Given the description of an element on the screen output the (x, y) to click on. 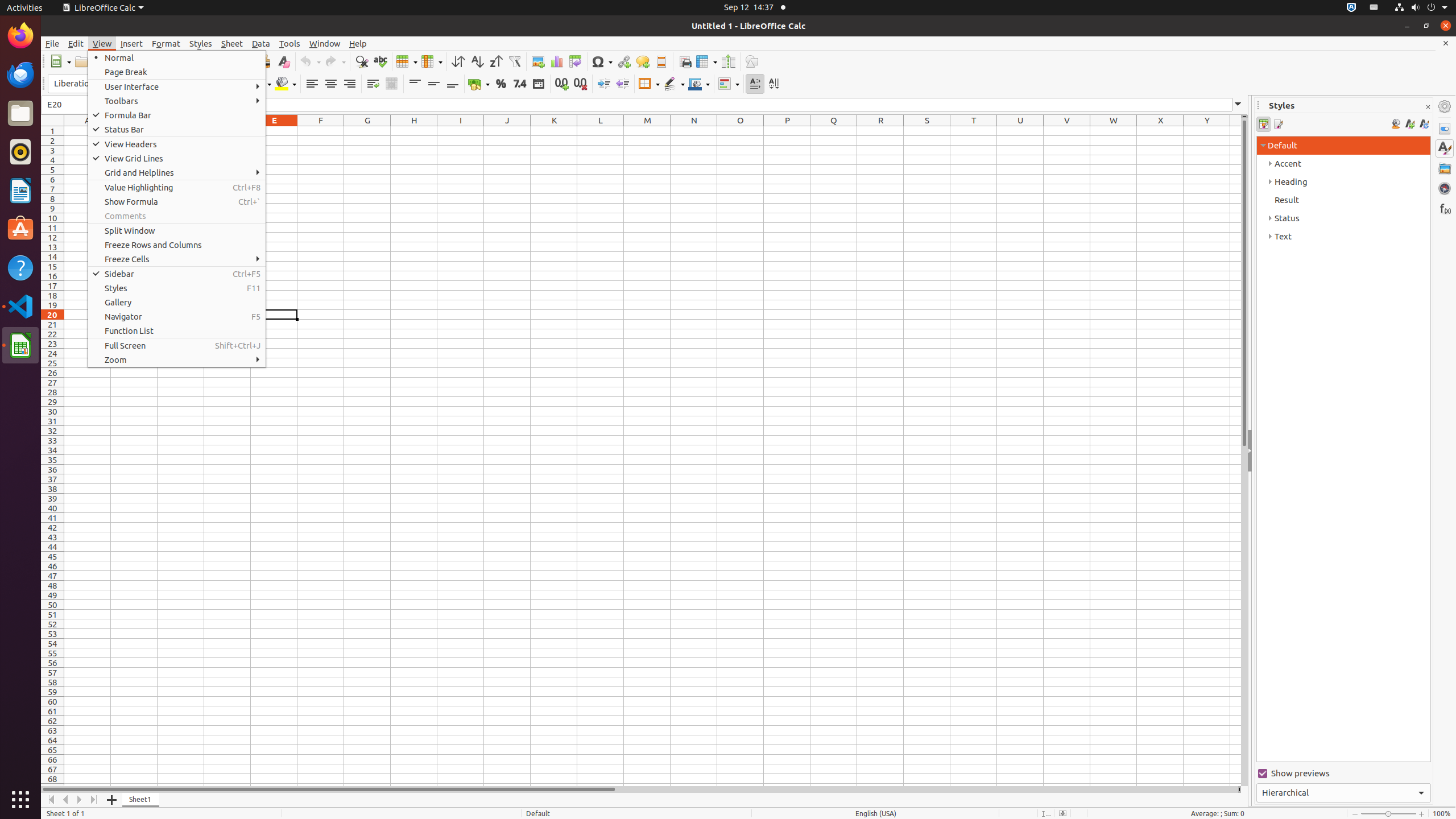
Sort Element type: push-button (457, 61)
